Given the description of an element on the screen output the (x, y) to click on. 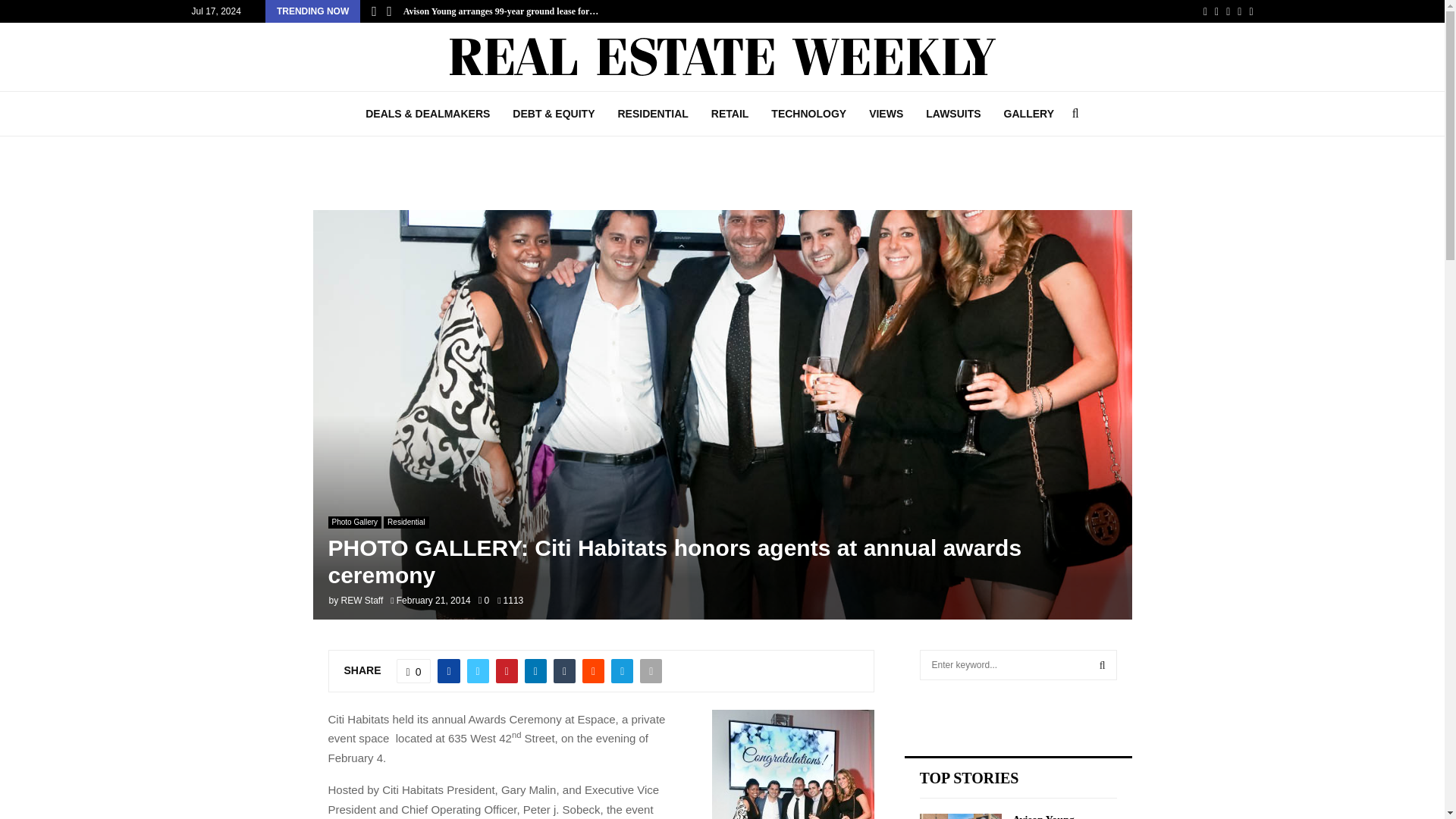
Facebook (1205, 11)
GALLERY (1029, 113)
Youtube (1250, 11)
Instagram (1227, 11)
RESIDENTIAL (652, 113)
Linkedin (1239, 11)
Linkedin (1239, 11)
RETAIL (730, 113)
Facebook (1205, 11)
Instagram (1227, 11)
LAWSUITS (952, 113)
Youtube (1250, 11)
Twitter (1216, 11)
VIEWS (885, 113)
TECHNOLOGY (808, 113)
